Given the description of an element on the screen output the (x, y) to click on. 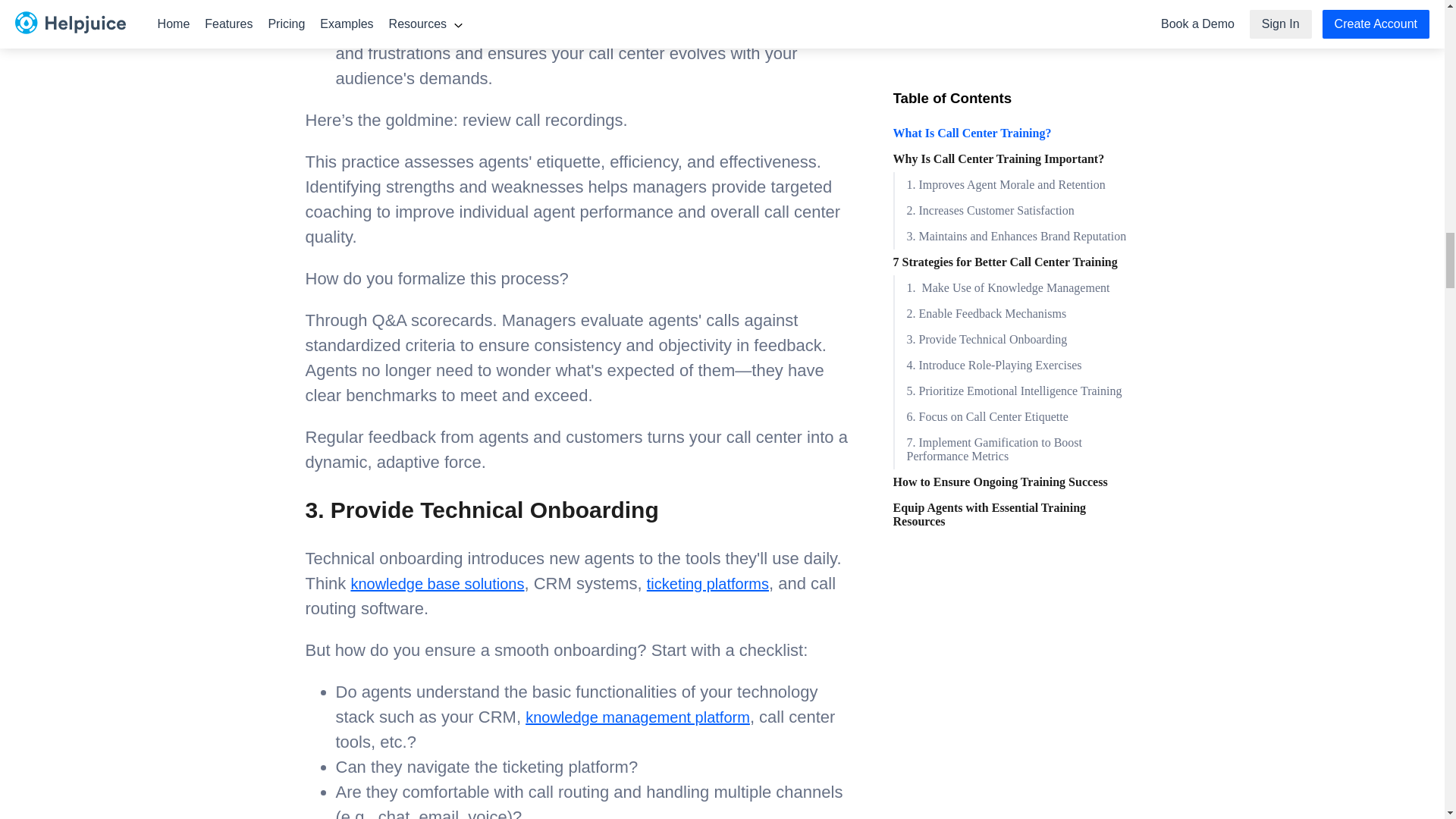
ticketing platforms (707, 583)
knowledge management platform (637, 717)
knowledge base solutions (437, 583)
